Given the description of an element on the screen output the (x, y) to click on. 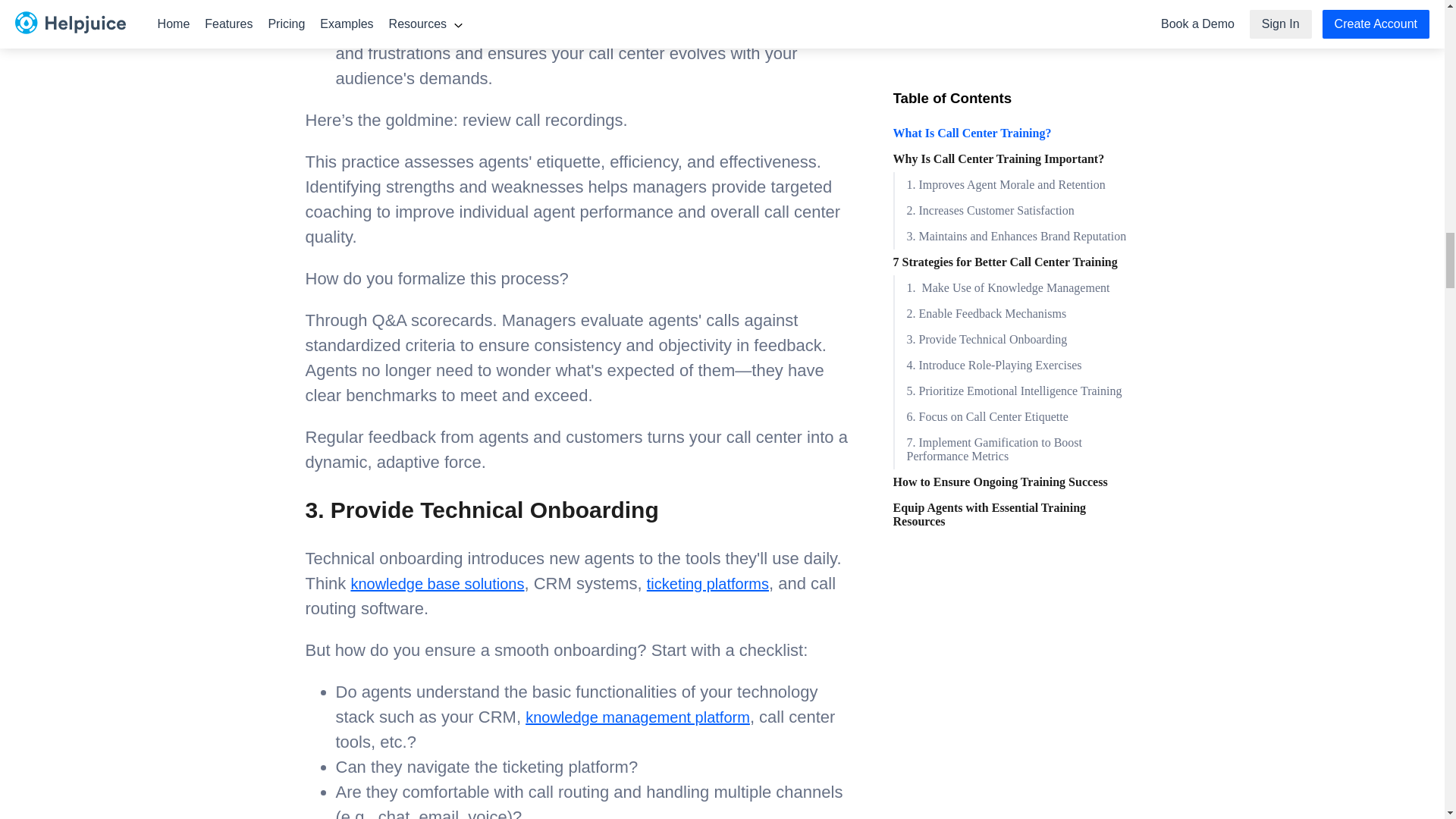
ticketing platforms (707, 583)
knowledge management platform (637, 717)
knowledge base solutions (437, 583)
